Given the description of an element on the screen output the (x, y) to click on. 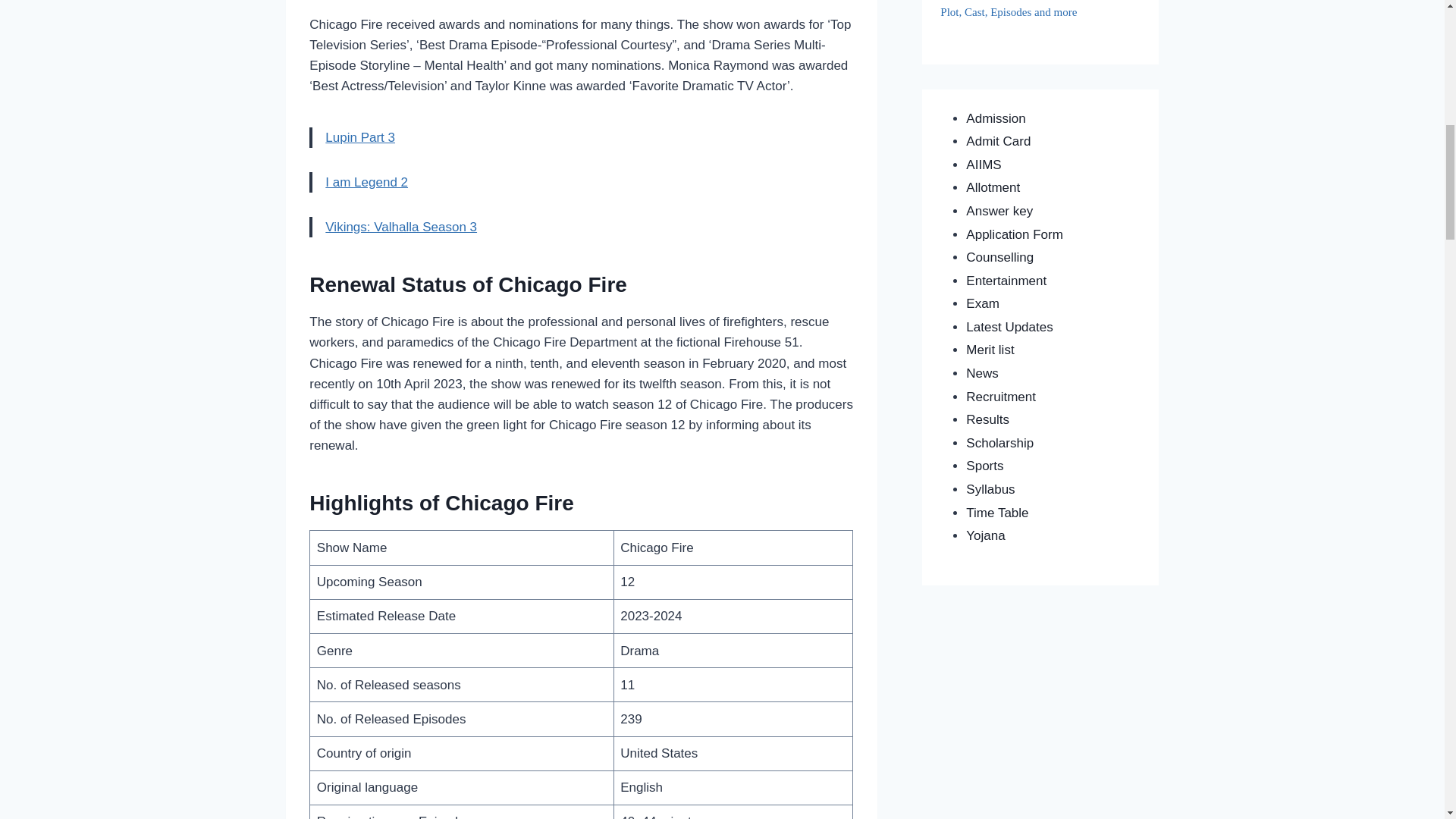
Counselling (999, 257)
Admission (995, 118)
Answer key (999, 210)
Admit Card (998, 141)
Lupin Part 3 (359, 137)
Allotment (993, 187)
I am Legend 2 (365, 182)
AIIMS (983, 164)
Application Form (1014, 234)
Vikings: Valhalla Season 3 (400, 227)
Advertisement (580, 4)
